Given the description of an element on the screen output the (x, y) to click on. 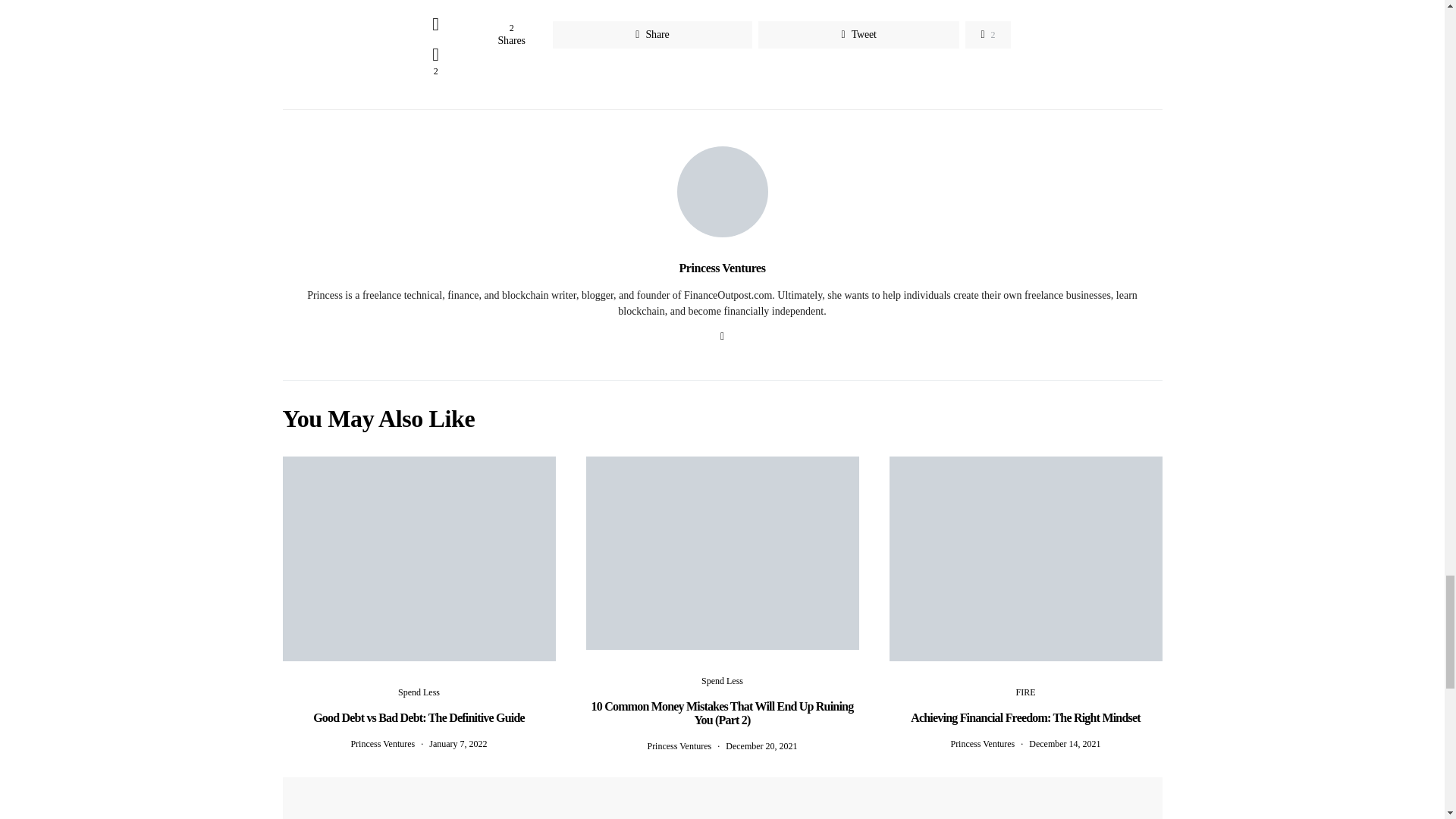
View all posts by Princess Ventures (382, 743)
View all posts by Princess Ventures (982, 743)
View all posts by Princess Ventures (678, 746)
